Given the description of an element on the screen output the (x, y) to click on. 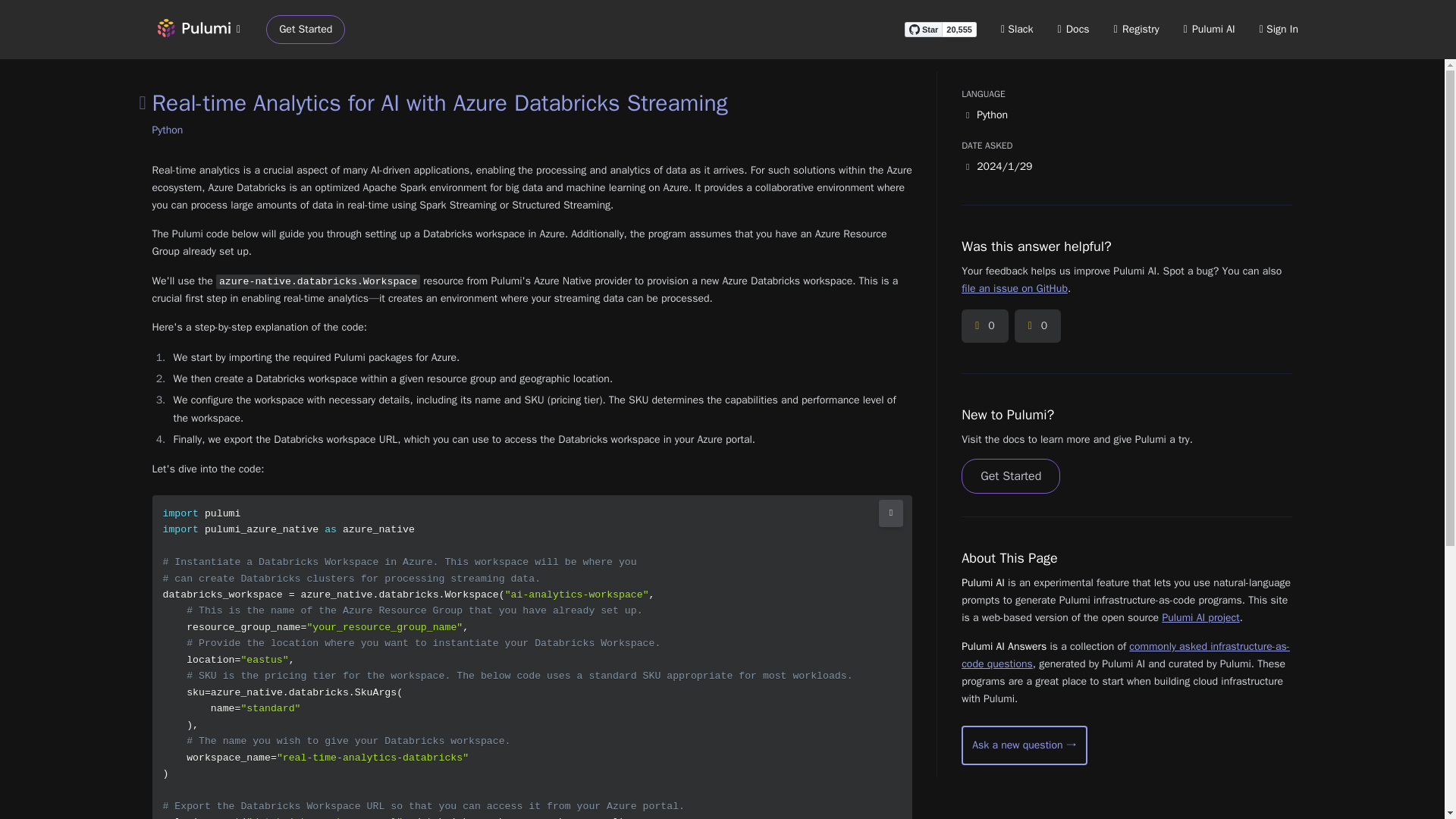
Docs (1073, 29)
Slack (1017, 29)
Upvote this answer (984, 326)
Get Started (305, 29)
 Star (923, 29)
0 (1037, 326)
Registry (1135, 29)
Sign In (1278, 29)
file an issue on GitHub (1013, 287)
Downvote this answer (1037, 326)
20,555 (959, 29)
Pulumi AI (1208, 29)
Start a new conversation with Pulumi AI (1023, 744)
0 (984, 326)
